Given the description of an element on the screen output the (x, y) to click on. 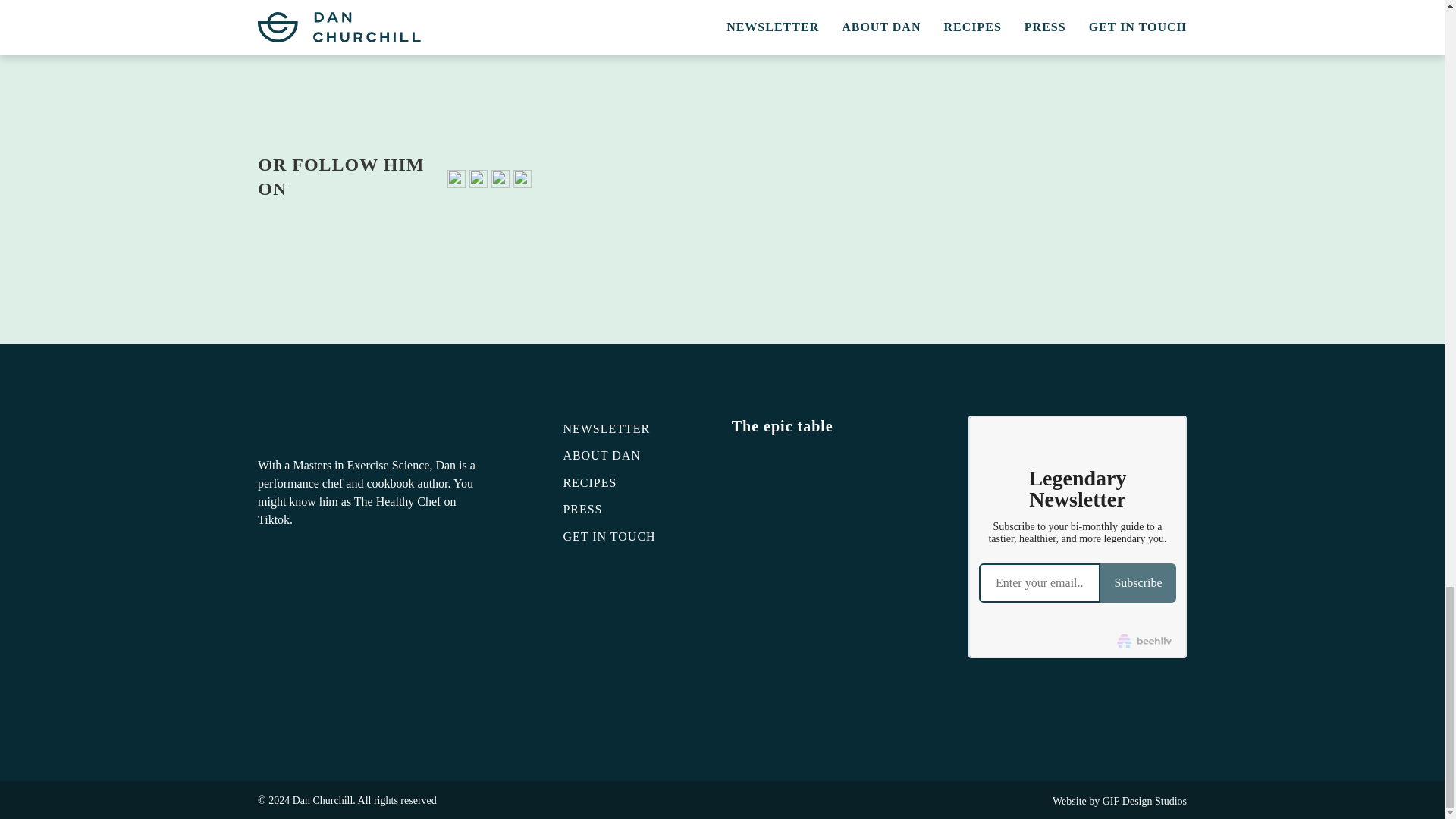
PRESS (637, 509)
RECIPES (637, 482)
NEWSLETTER (637, 428)
GET IN TOUCH (637, 536)
ABOUT DAN (637, 455)
